Given the description of an element on the screen output the (x, y) to click on. 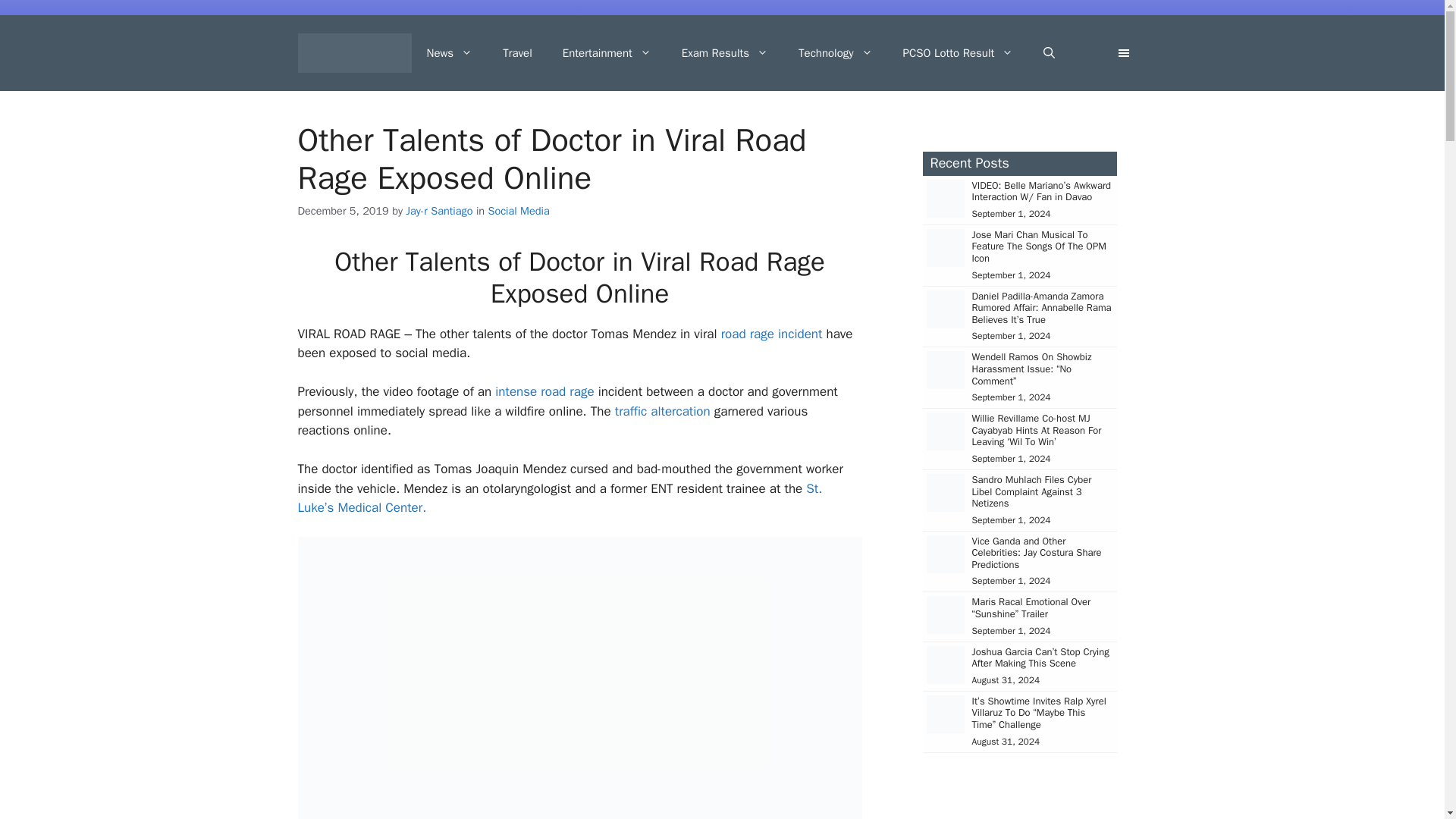
News (448, 53)
Exam Results (724, 53)
Entertainment (606, 53)
Travel (517, 53)
View all posts by Jay-r Santiago (438, 210)
